Given the description of an element on the screen output the (x, y) to click on. 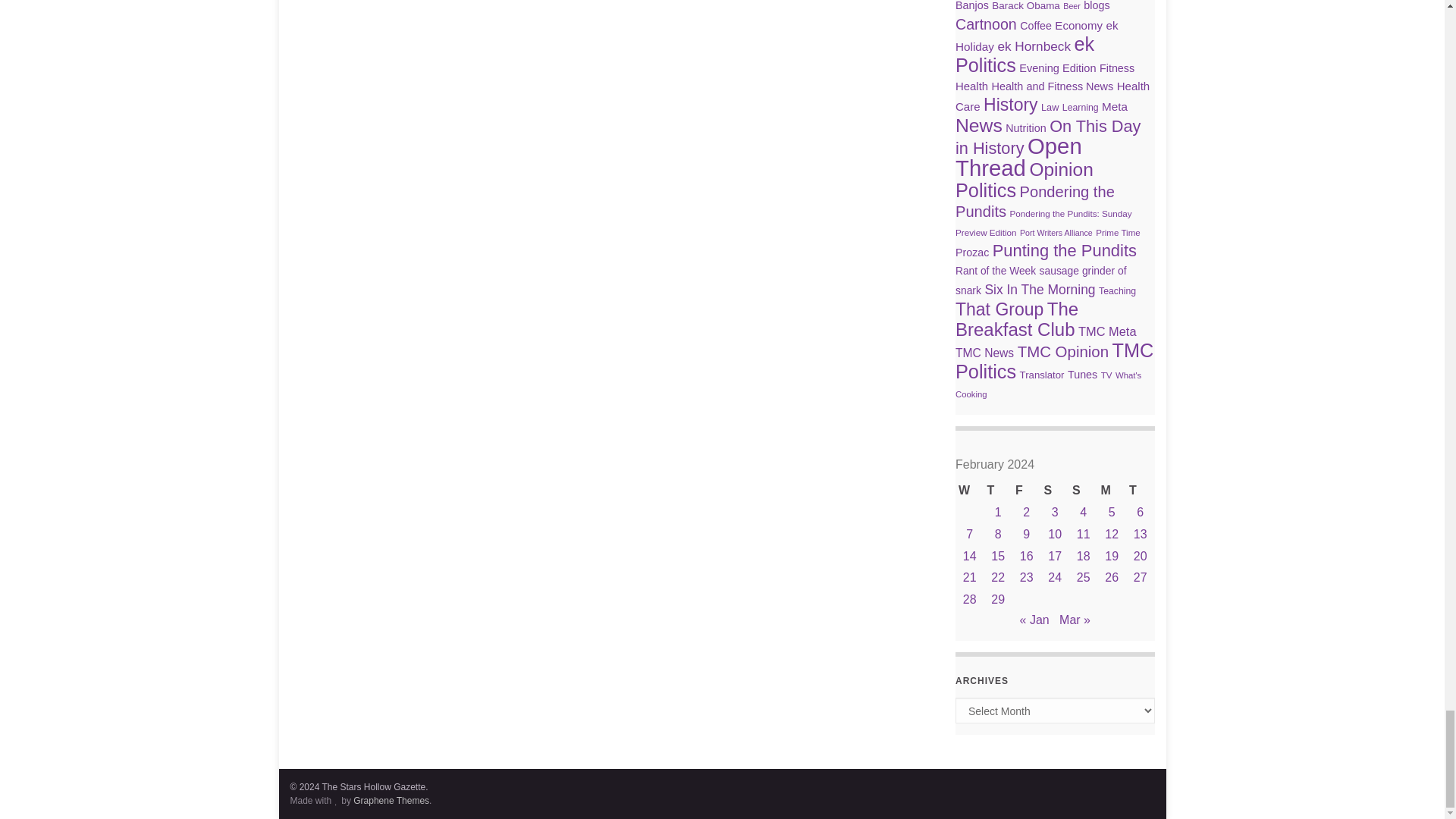
Sunday (1082, 490)
Thursday (998, 490)
Wednesday (969, 490)
Monday (1111, 490)
Tuesday (1139, 490)
Friday (1026, 490)
Saturday (1054, 490)
